Given the description of an element on the screen output the (x, y) to click on. 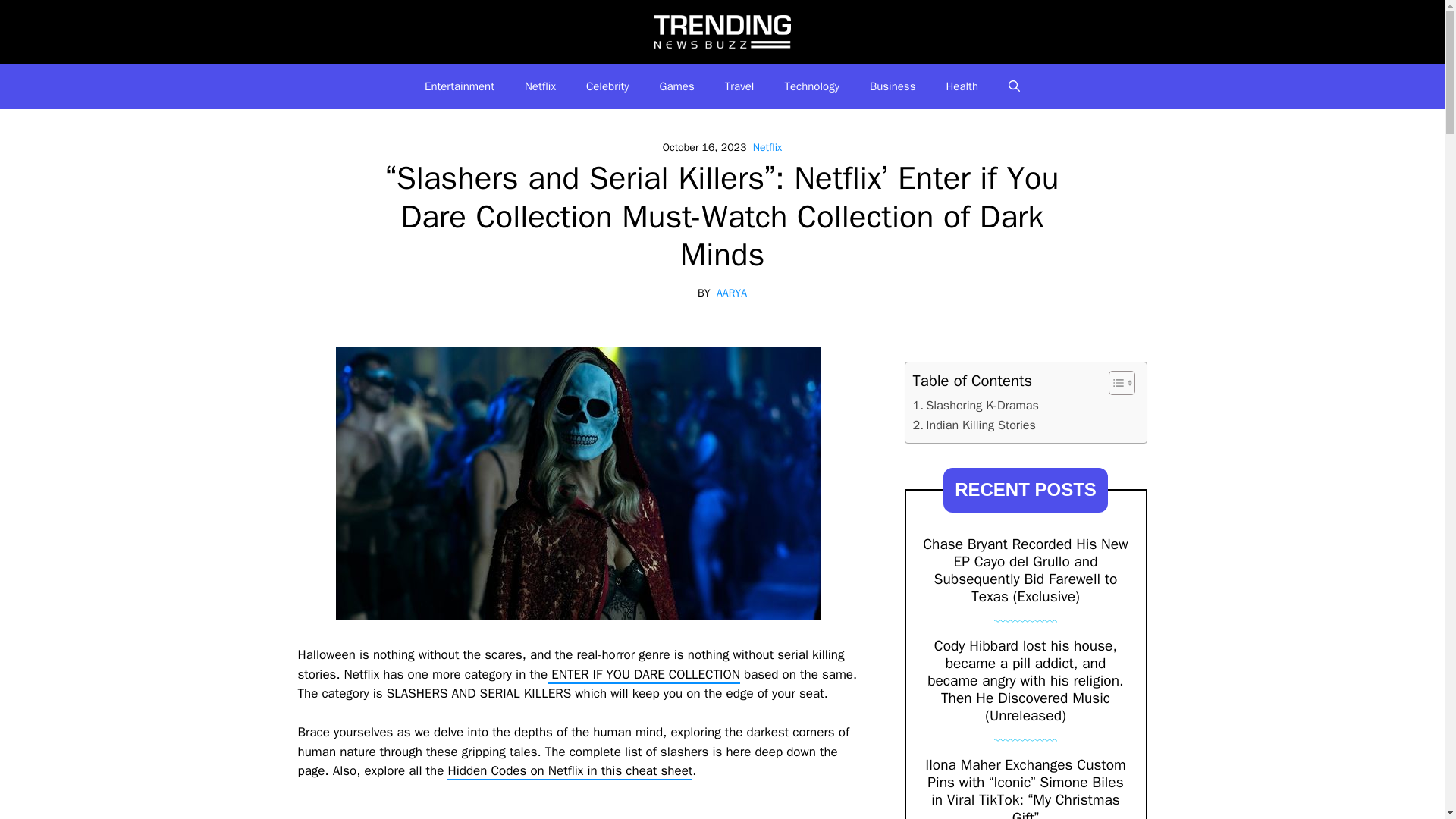
Netflix (766, 146)
Hidden Codes on Netflix in this cheat sheet (569, 771)
Entertainment (459, 85)
Travel (740, 85)
Games (677, 85)
Technology (811, 85)
AARYA (731, 292)
Indian Killing Stories (973, 424)
ENTER IF YOU DARE COLLECTION (643, 674)
Netflix (539, 85)
